Given the description of an element on the screen output the (x, y) to click on. 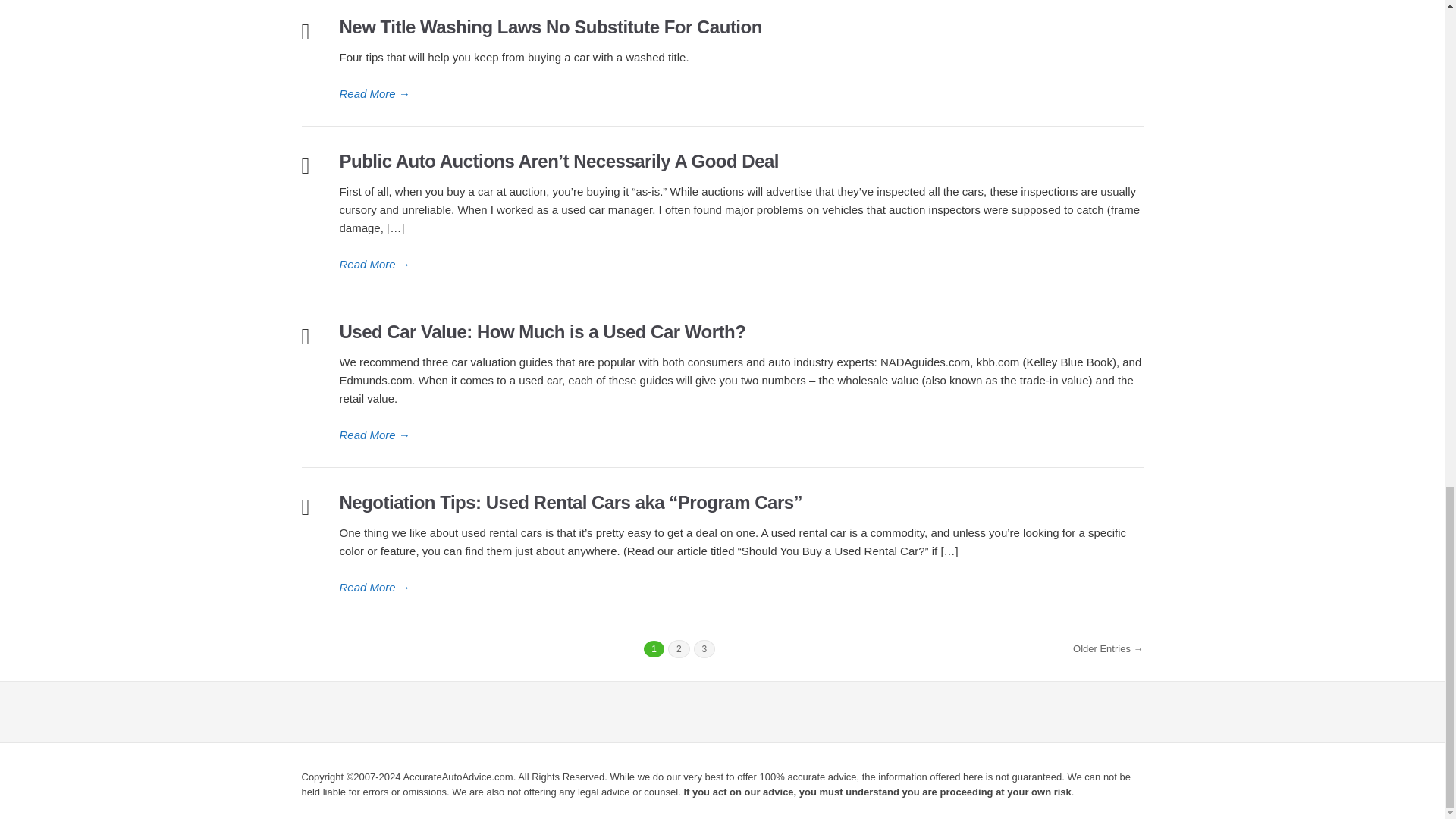
Used Car Value: How Much is a Used Car Worth? (740, 434)
New Title Washing Laws No Substitute For Caution (550, 26)
Used Car Value: How Much is a Used Car Worth? (542, 331)
New Title Washing Laws No Substitute For Caution (740, 94)
